Given the description of an element on the screen output the (x, y) to click on. 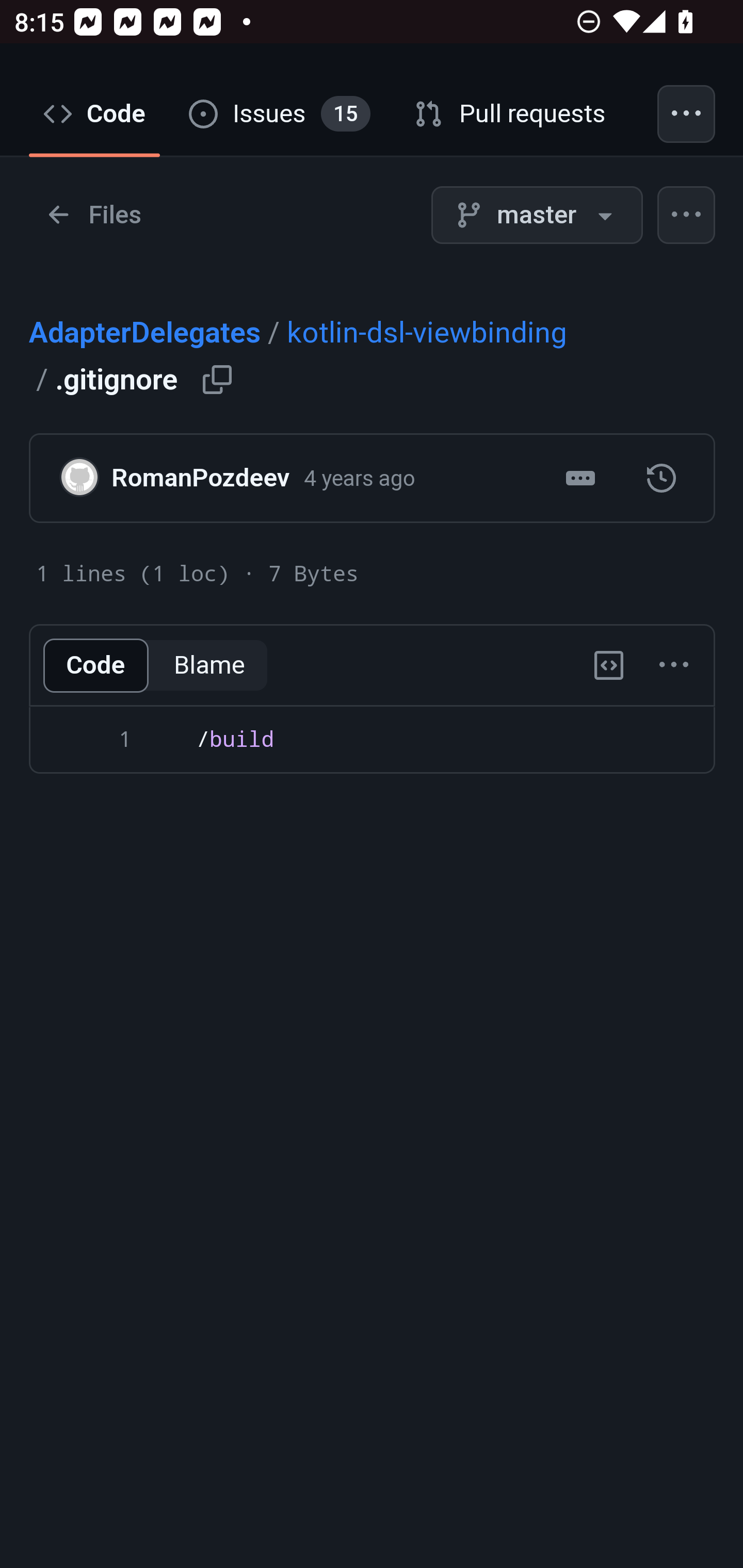
Additional navigation options (686, 114)
Code (94, 114)
Issues 15 Issues 15 (279, 114)
Pull requests (510, 114)
Expand file tree (93, 215)
master branch (536, 215)
More file actions (686, 215)
AdapterDelegates (144, 332)
kotlin-dsl-viewbinding (425, 332)
Copy path (217, 380)
Open commit details (580, 479)
Code (95, 666)
Blame (208, 666)
Symbols (609, 667)
Edit and raw actions (673, 667)
/build (371, 754)
